Given the description of an element on the screen output the (x, y) to click on. 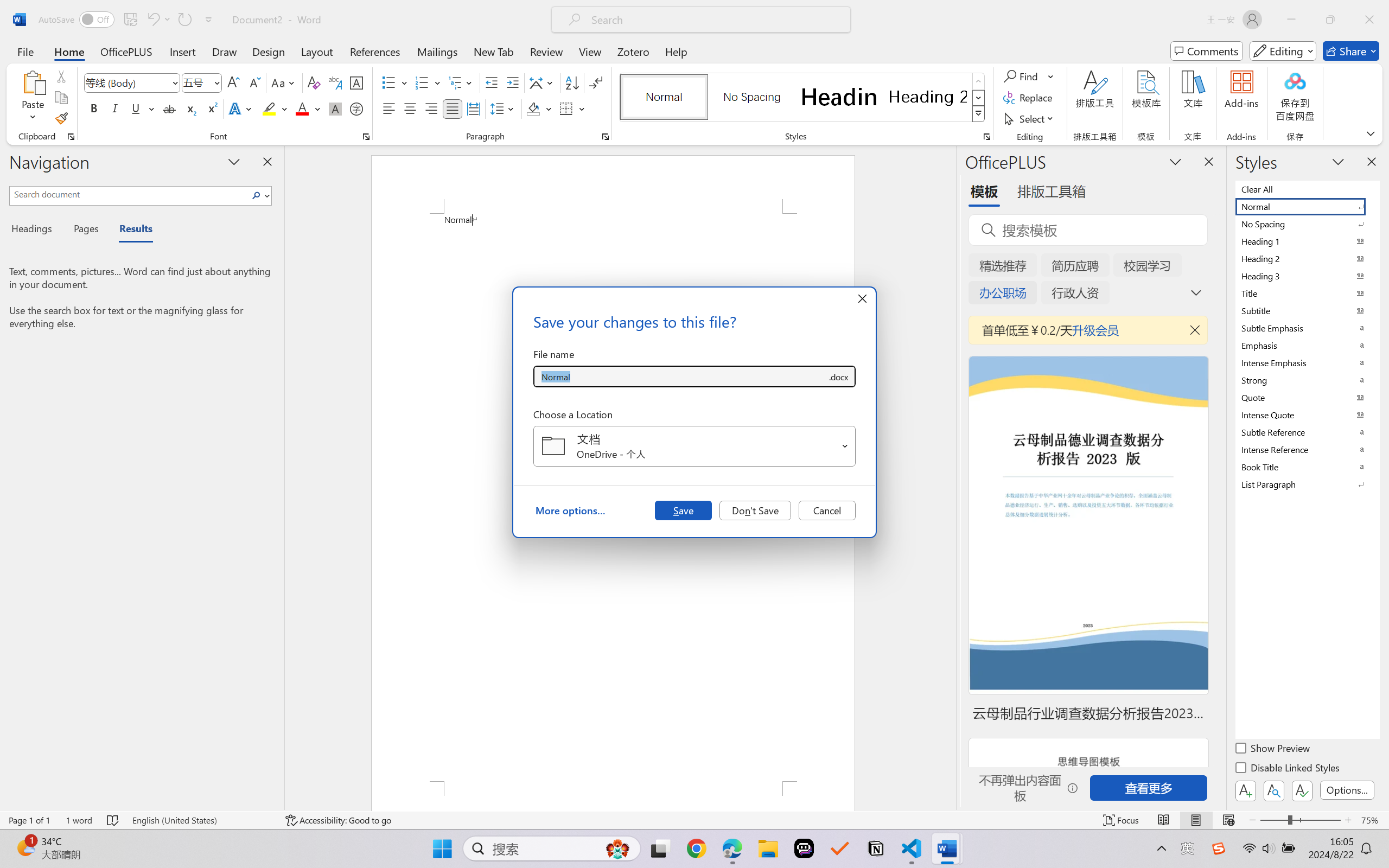
Language English (United States) (201, 819)
Underline (142, 108)
Grow Font (233, 82)
Layout (316, 51)
Change Case (284, 82)
Bold (94, 108)
AutomationID: QuickStylesGallery (802, 97)
Class: NetUIScrollBar (948, 477)
Web Layout (1228, 819)
Align Left (388, 108)
View (589, 51)
Text Effects and Typography (241, 108)
Text Highlight Color (274, 108)
Customize Quick Access Toolbar (208, 19)
